Given the description of an element on the screen output the (x, y) to click on. 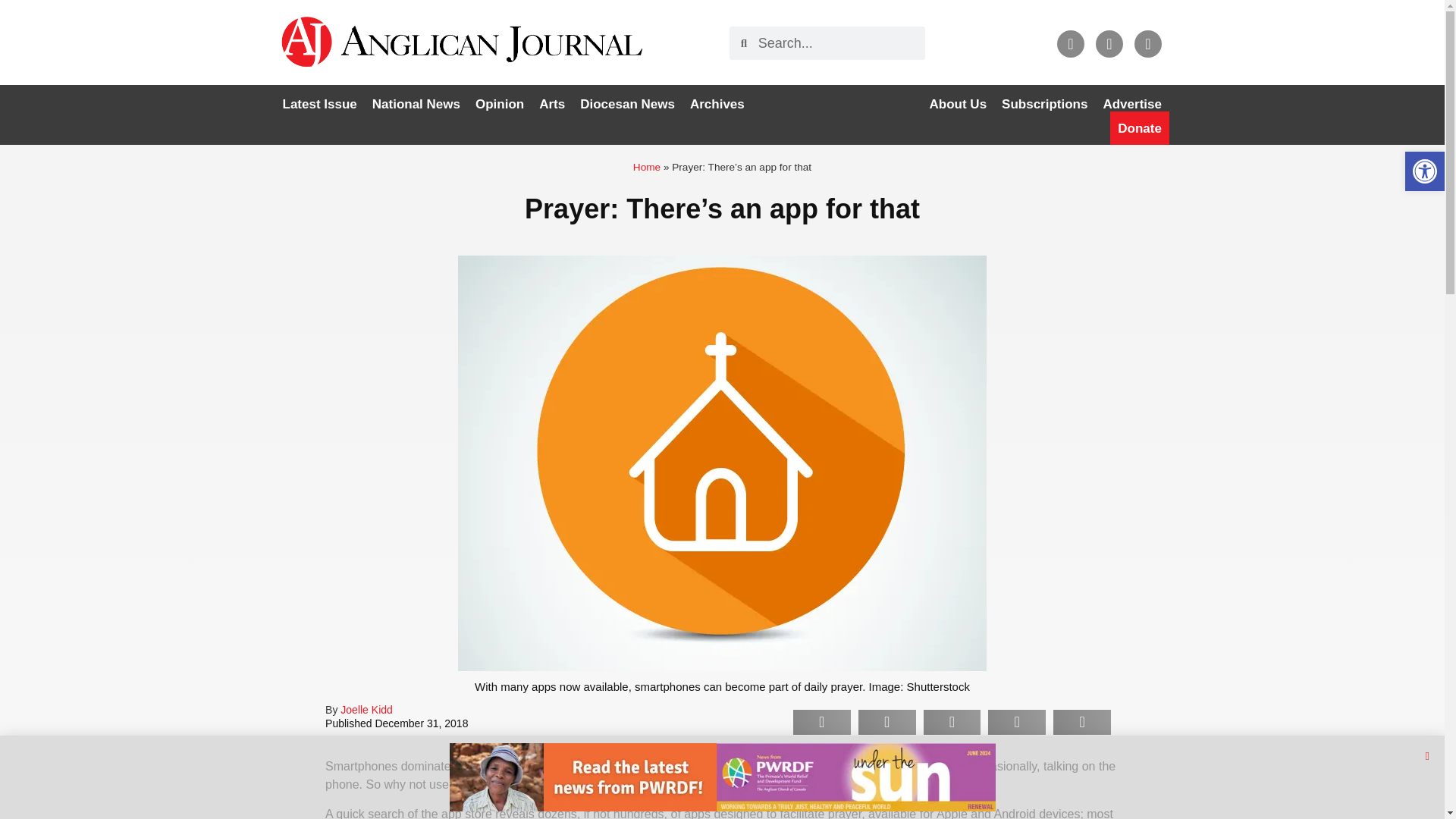
Accessibility Tools (1424, 170)
Archives (717, 104)
Latest Issue (319, 104)
Arts (551, 104)
Diocesan News (627, 104)
National News (416, 104)
Joelle Kidd (366, 709)
Opinion (499, 104)
